Given the description of an element on the screen output the (x, y) to click on. 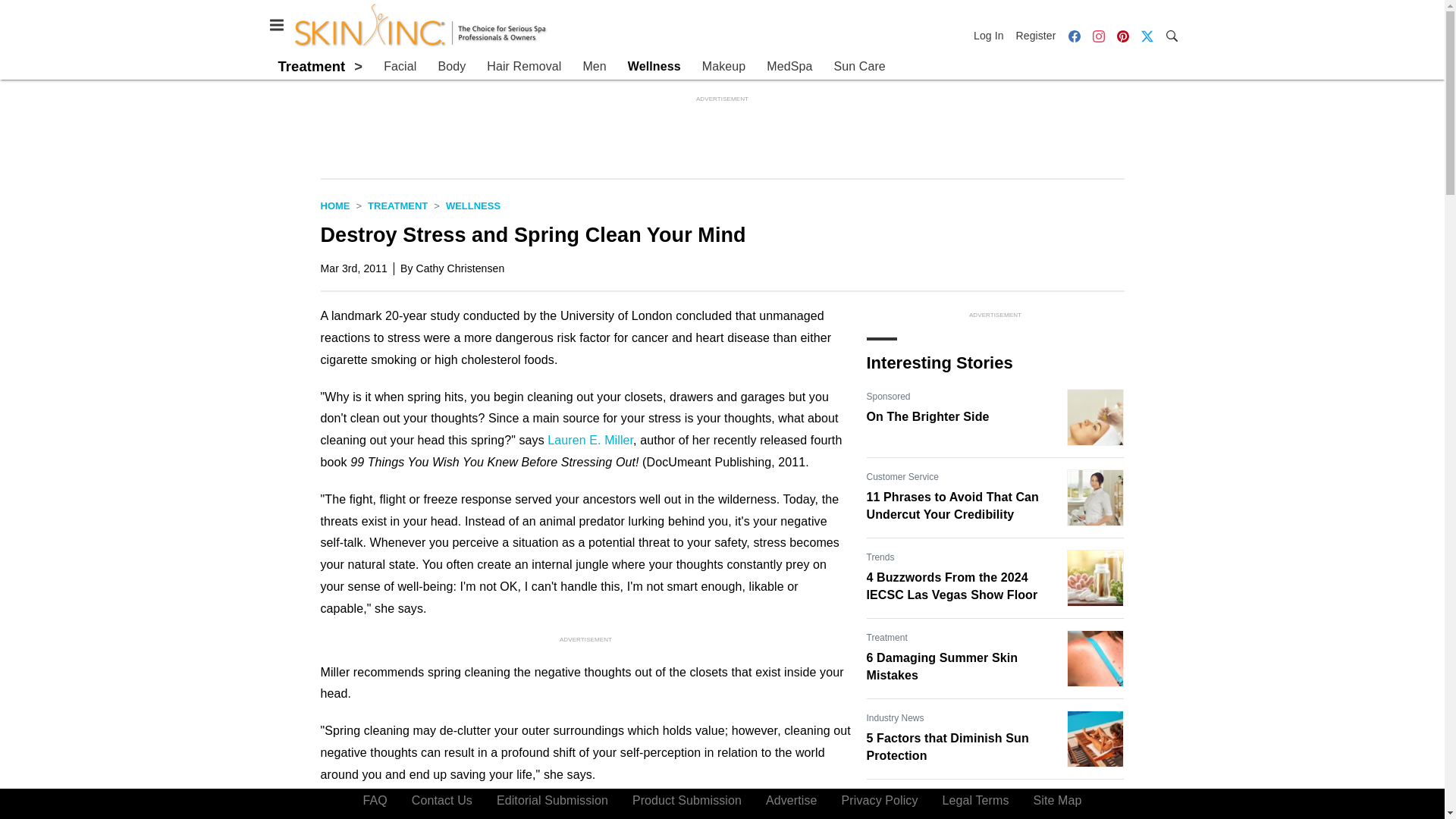
Hair Removal (523, 66)
Facebook icon (1073, 36)
Home (334, 205)
Log In (992, 35)
Twitter X icon (1146, 36)
Wellness (472, 205)
Instagram icon (1097, 36)
Sponsored (888, 798)
Twitter X icon (1146, 35)
Treatment (311, 65)
Wellness (654, 66)
Facial (400, 66)
Pinterest icon (1122, 36)
Instagram icon (1097, 35)
Makeup (723, 66)
